Given the description of an element on the screen output the (x, y) to click on. 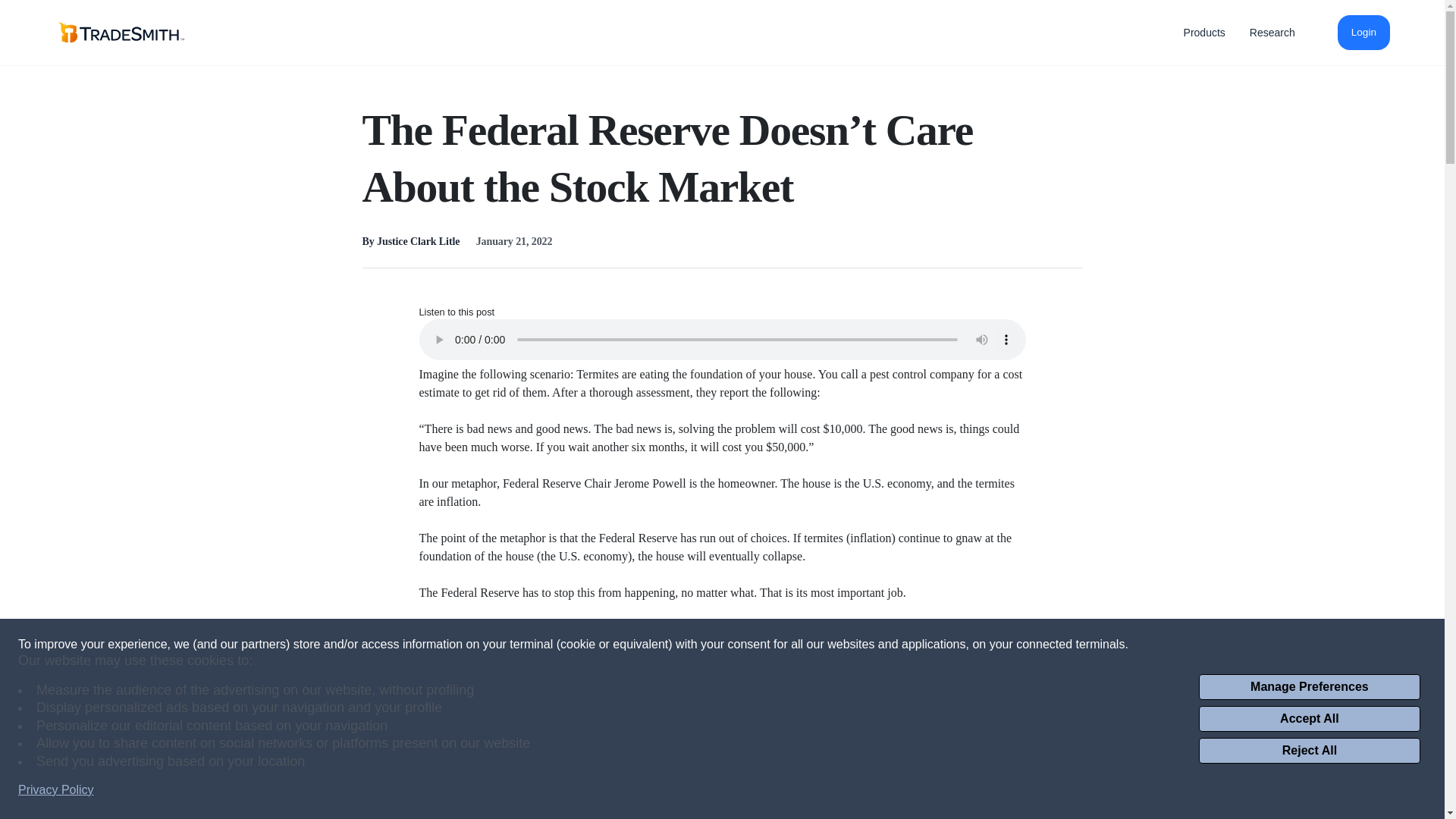
Justice Clark Litle (418, 241)
Manage Preferences (1309, 687)
Login (1364, 32)
Reject All (1309, 750)
Products (1204, 32)
Privacy Policy (55, 789)
Research (1272, 32)
Accept All (1309, 718)
